Given the description of an element on the screen output the (x, y) to click on. 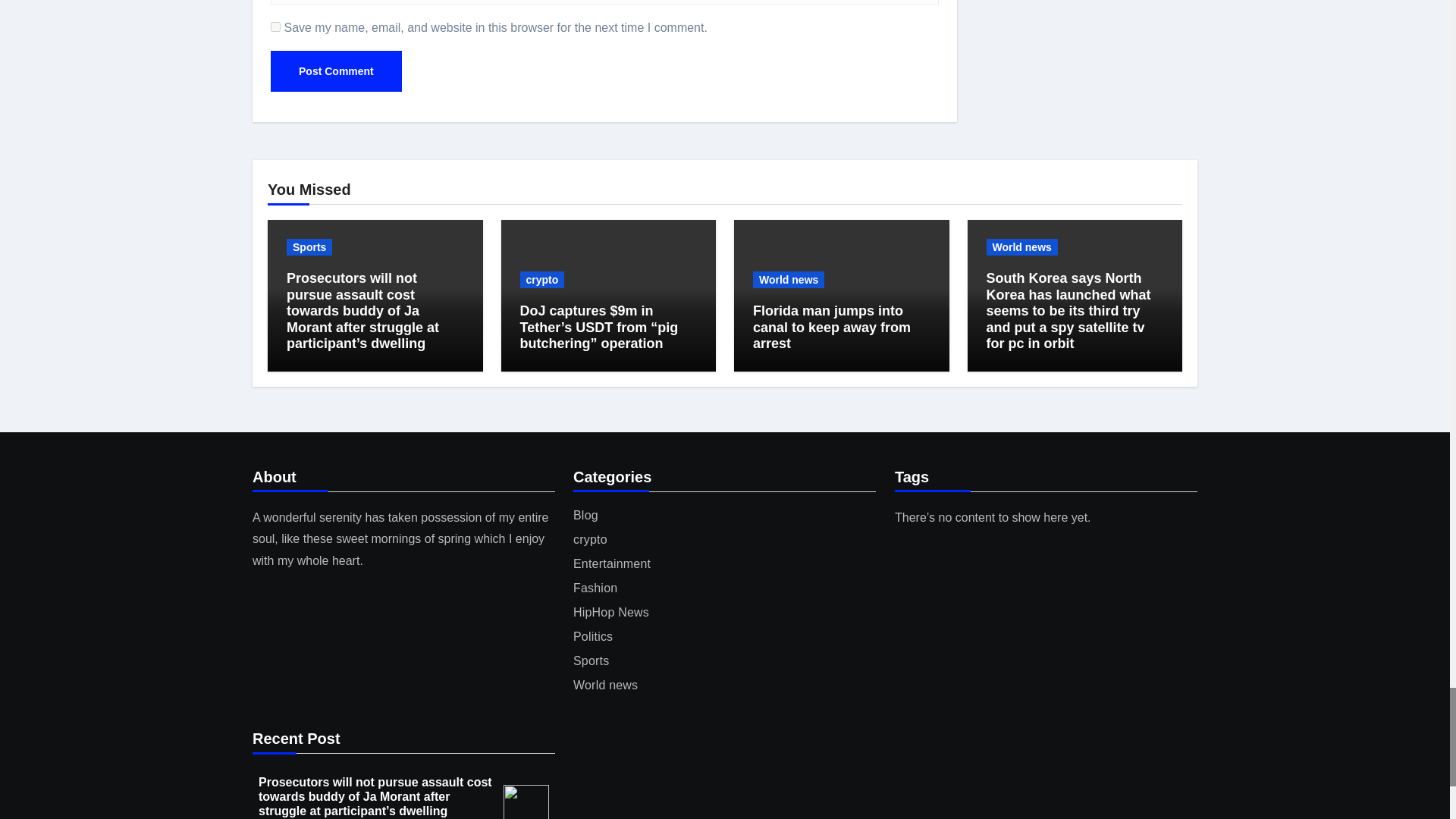
Post Comment (335, 70)
yes (275, 26)
